Given the description of an element on the screen output the (x, y) to click on. 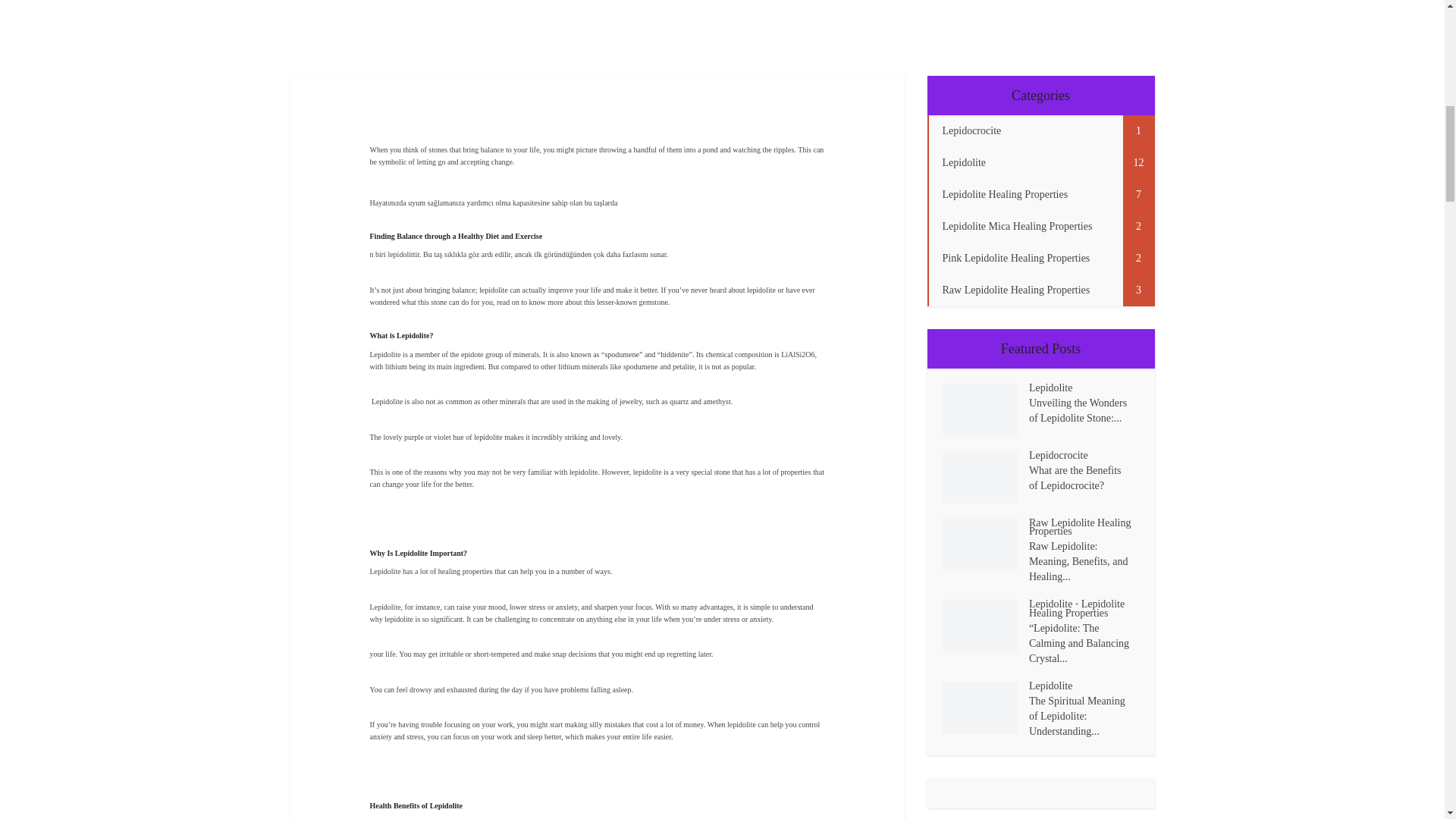
Advertisement (721, 26)
